Given the description of an element on the screen output the (x, y) to click on. 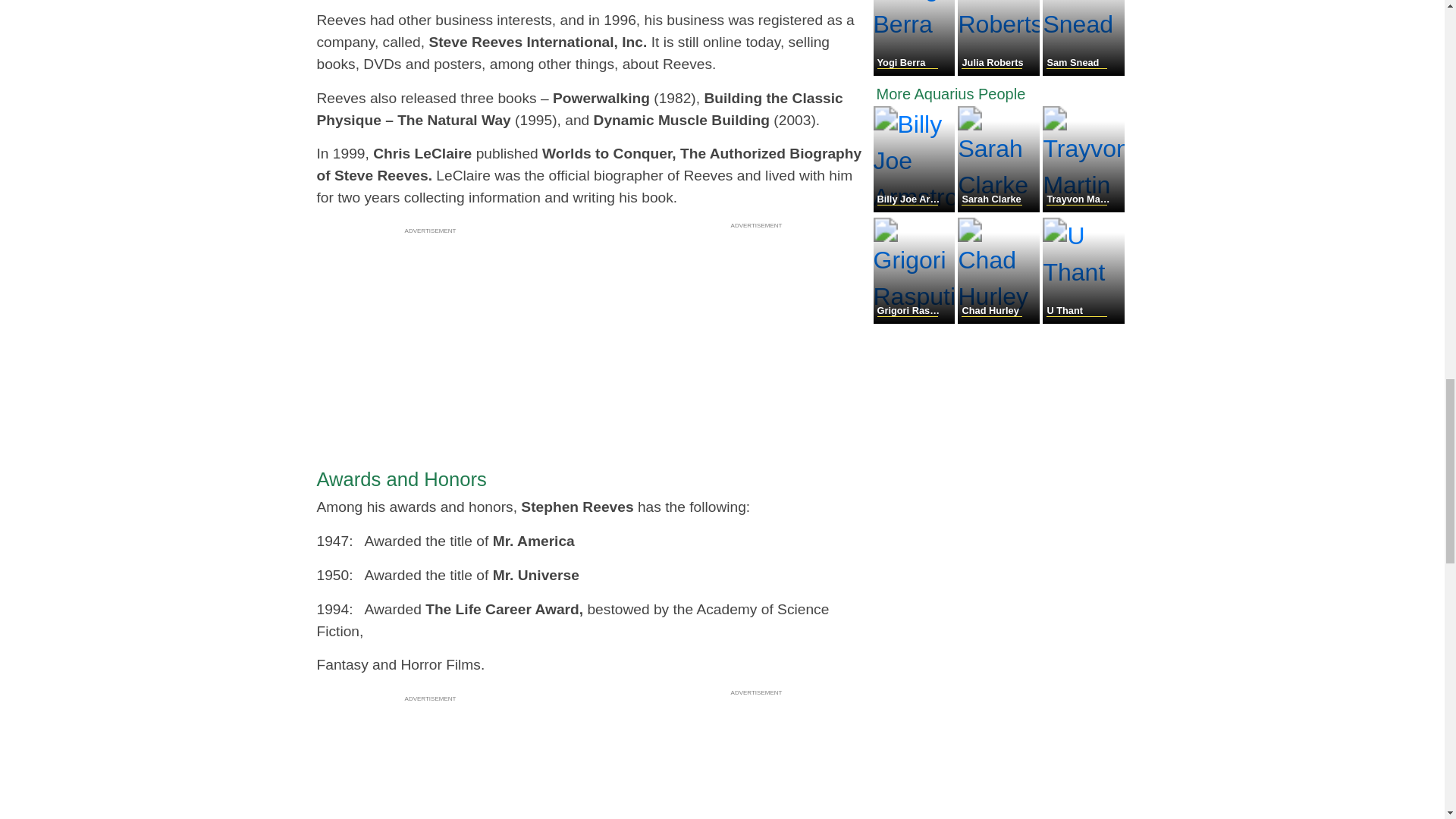
Billy Joe Armstrong (915, 207)
Yogi Berra (915, 71)
Sam Snead (1083, 71)
Julia Roberts (1000, 71)
